Given the description of an element on the screen output the (x, y) to click on. 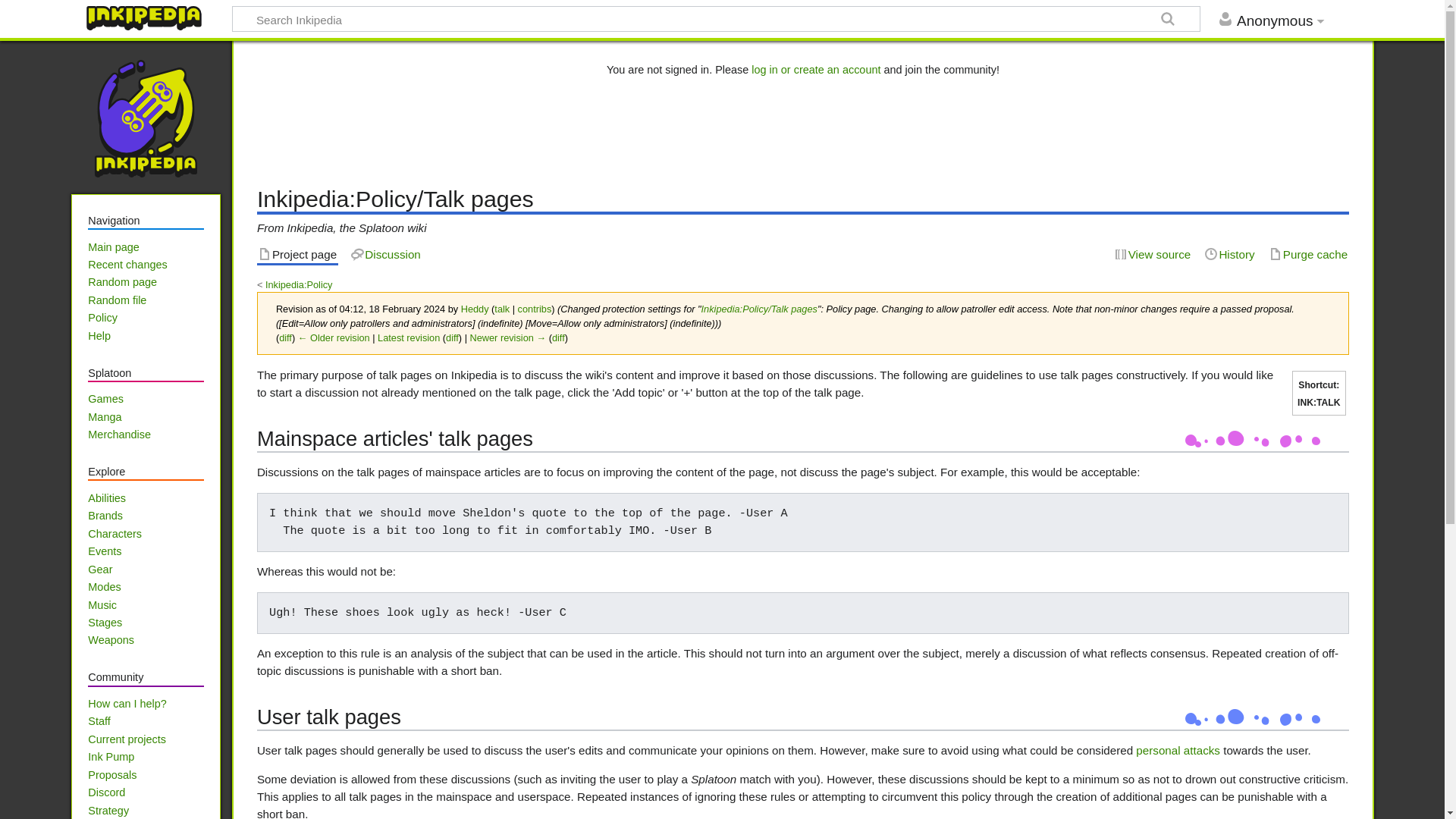
View source (1152, 254)
Project page (297, 254)
Manga (103, 417)
Recent changes (127, 264)
Latest revision (408, 337)
Go (1168, 21)
User talk:Heddy (502, 308)
Go (1168, 21)
Main page (112, 246)
Games (105, 398)
Special:UserLogin (815, 69)
Purge cache (1308, 254)
Random file (117, 300)
Policy (102, 317)
Search (14, 14)
